Given the description of an element on the screen output the (x, y) to click on. 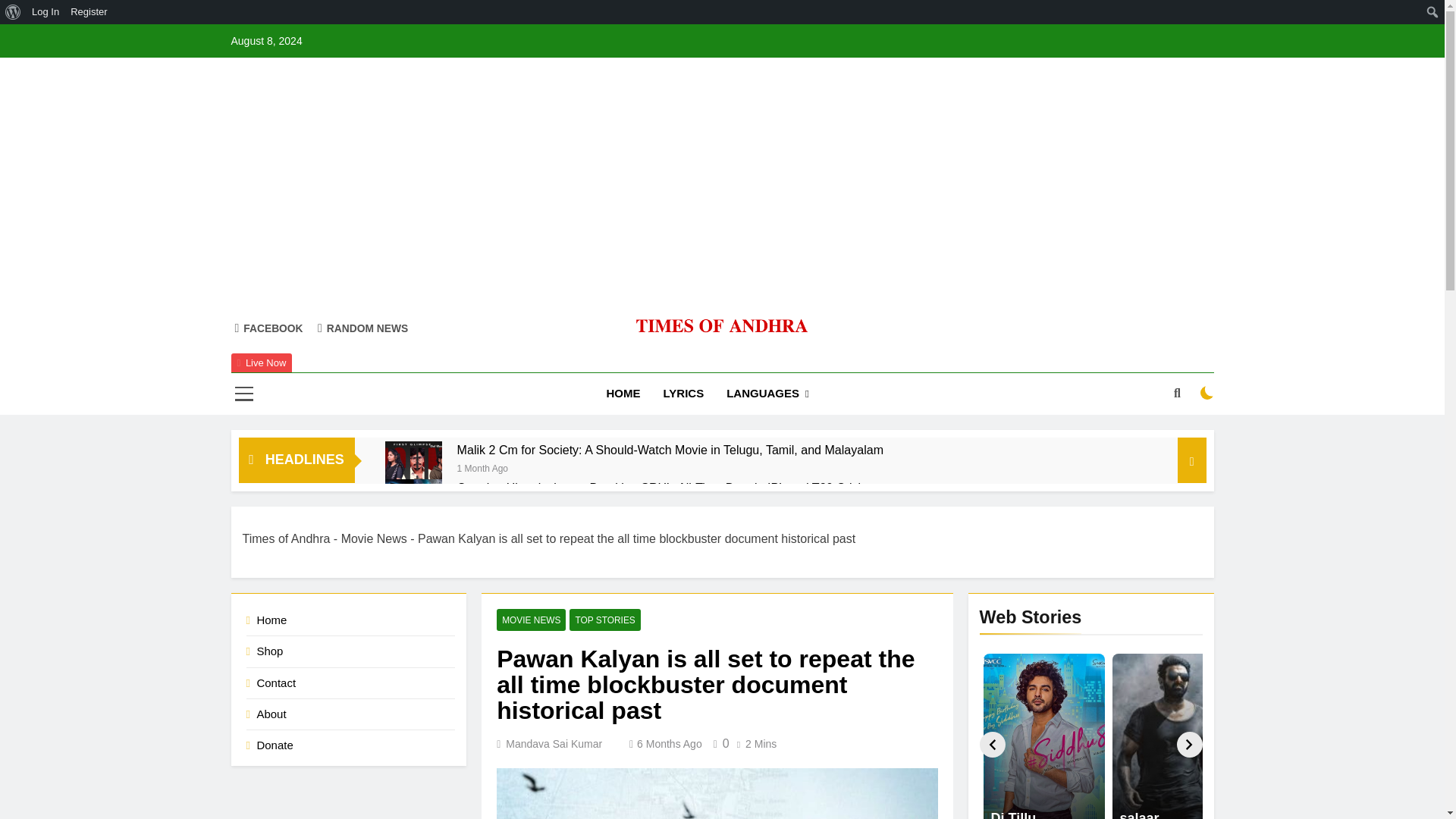
on (1206, 392)
RANDOM NEWS (362, 327)
HOME (623, 393)
Log In (45, 12)
Live Now (261, 362)
FACEBOOK (268, 327)
LANGUAGES (767, 393)
Search (16, 12)
1 Month Ago (482, 467)
Register (89, 12)
LYRICS (684, 393)
